Given the description of an element on the screen output the (x, y) to click on. 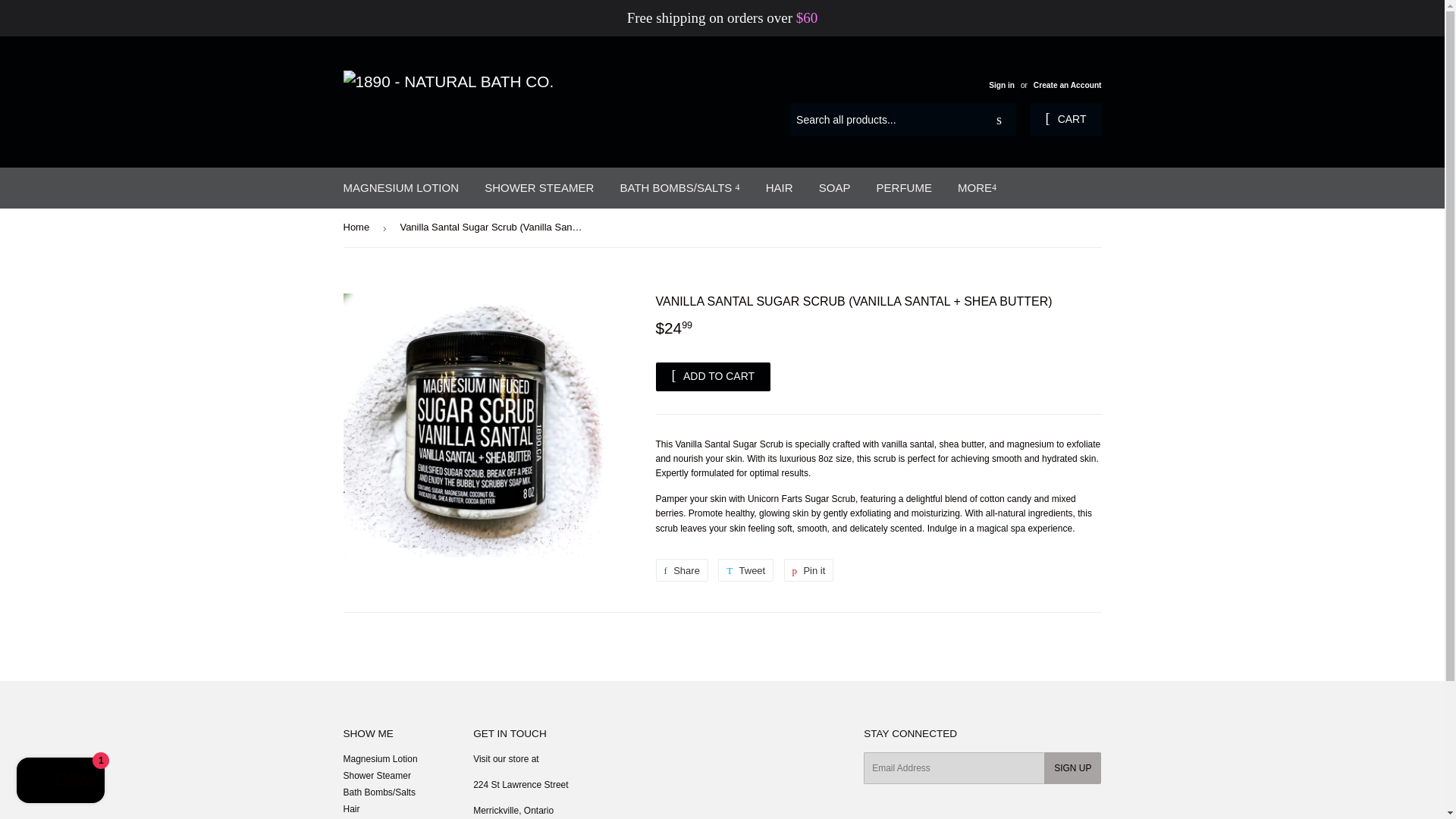
Pin on Pinterest (809, 569)
SOAP (834, 187)
Shopify online store chat (809, 569)
PERFUME (60, 781)
SHOWER STEAMER (903, 187)
Tweet on Twitter (539, 187)
MAGNESIUM LOTION (745, 569)
CART (745, 569)
Share on Facebook (400, 187)
HAIR (681, 569)
Magnesium Lotion (1064, 119)
Create an Account (681, 569)
